Given the description of an element on the screen output the (x, y) to click on. 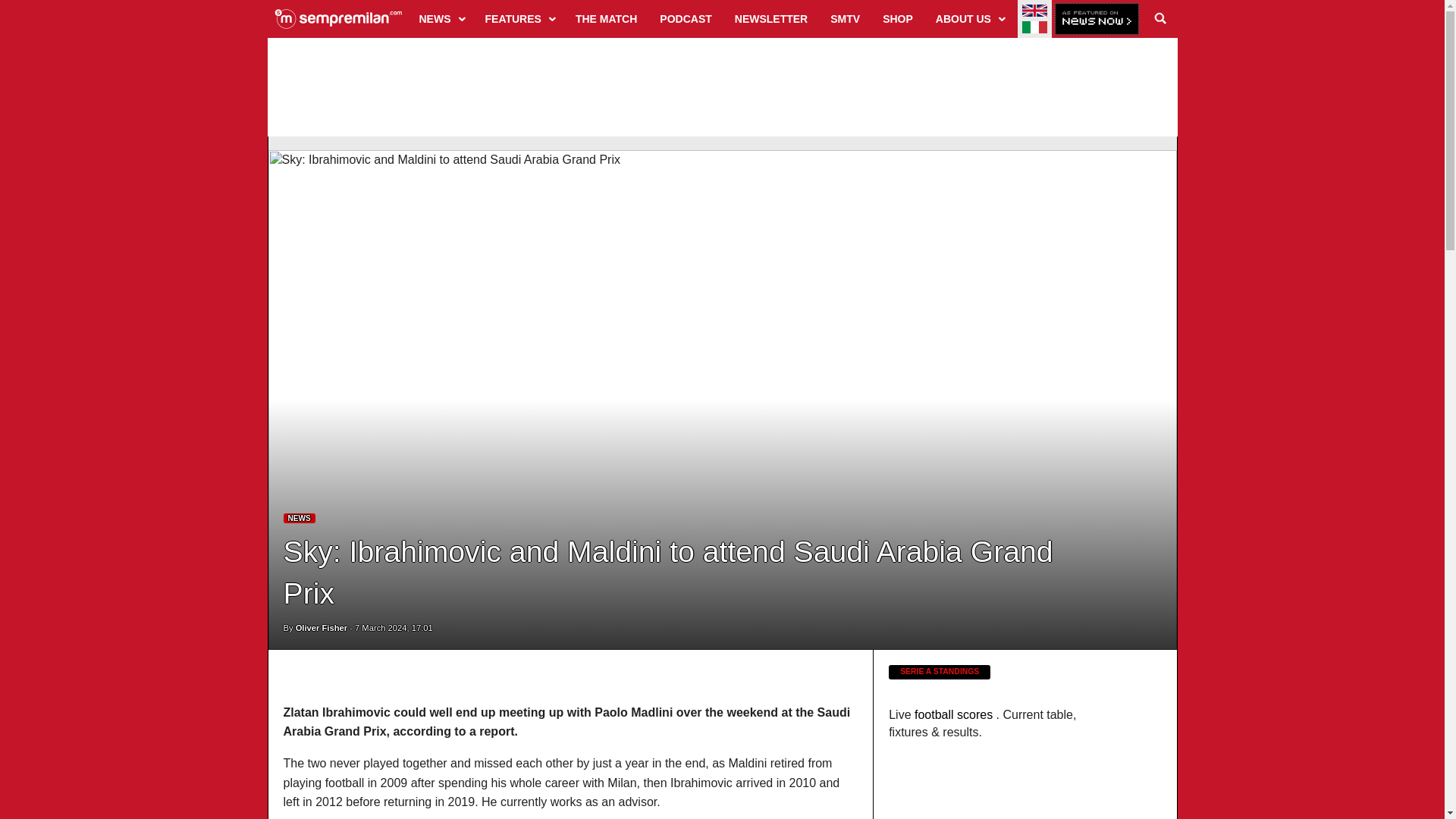
HOME (338, 18)
PODCAST (684, 18)
Visit our Italian language site (1034, 27)
THE MATCH (605, 18)
Currently viewing our English language site (1034, 10)
Search (1160, 18)
NEWS (440, 18)
FEATURES (518, 18)
Latest News News (299, 518)
NEWSLETTER (770, 18)
Click here for more AC Milan news from NewsNow (1096, 19)
SMTV (844, 18)
SHOP (897, 18)
ABOUT US (968, 18)
